Given the description of an element on the screen output the (x, y) to click on. 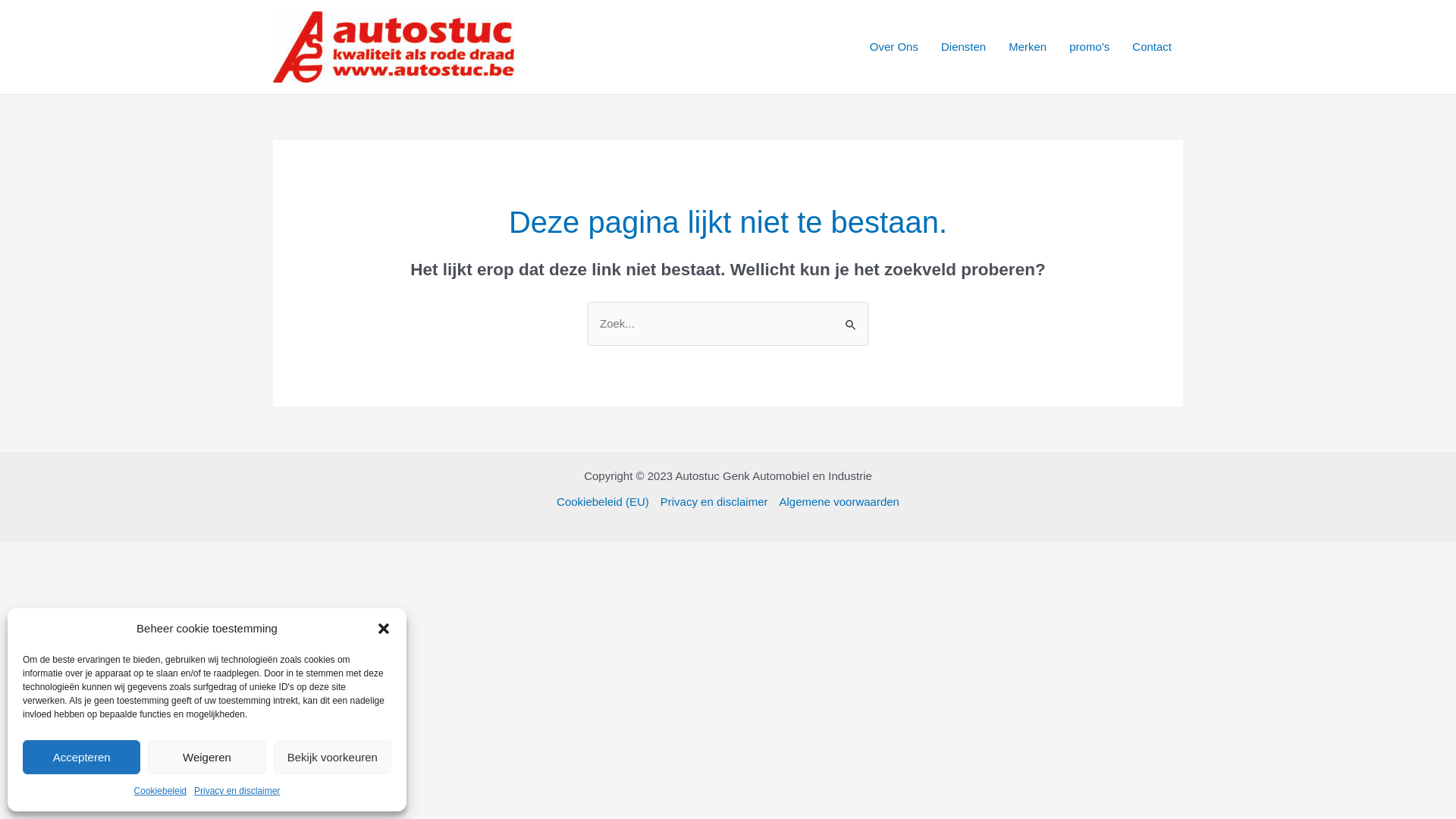
Cookiebeleid (EU) Element type: text (605, 501)
Diensten Element type: text (963, 46)
Zoeken Element type: text (851, 316)
Algemene voorwaarden Element type: text (836, 501)
Bekijk voorkeuren Element type: text (332, 757)
Privacy en disclaimer Element type: text (713, 501)
Cookiebeleid Element type: text (160, 790)
Contact Element type: text (1151, 46)
Merken Element type: text (1027, 46)
Weigeren Element type: text (206, 757)
Privacy en disclaimer Element type: text (236, 790)
Accepteren Element type: text (81, 757)
Over Ons Element type: text (893, 46)
